Given the description of an element on the screen output the (x, y) to click on. 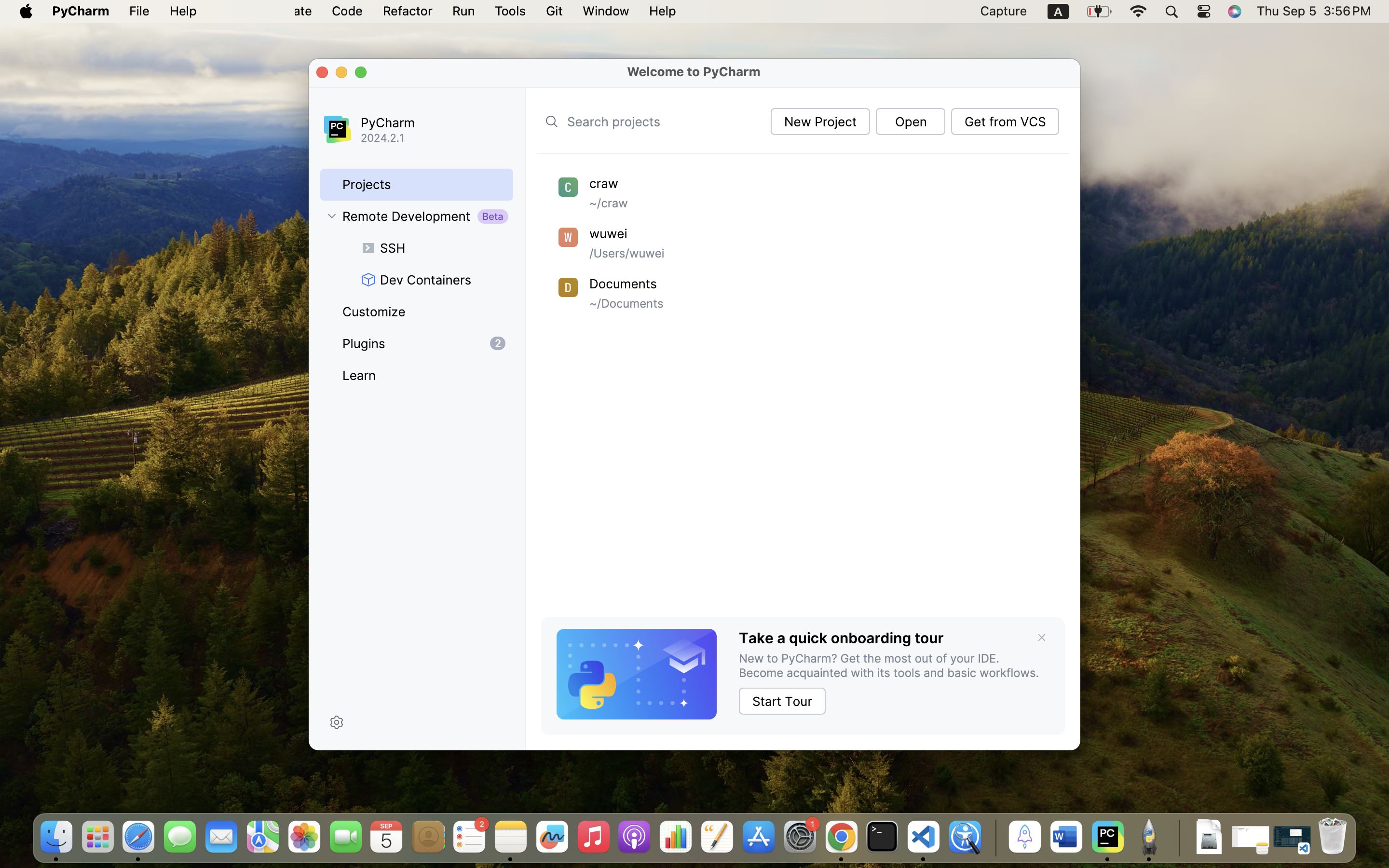
PyCharm Element type: AXStaticText (429, 122)
Take a quick onboarding tour Element type: AXStaticText (840, 637)
New to PyCharm? Get the most out of your IDE. Become acquainted with its tools and basic workflows. Element type: AXStaticText (893, 665)
